Given the description of an element on the screen output the (x, y) to click on. 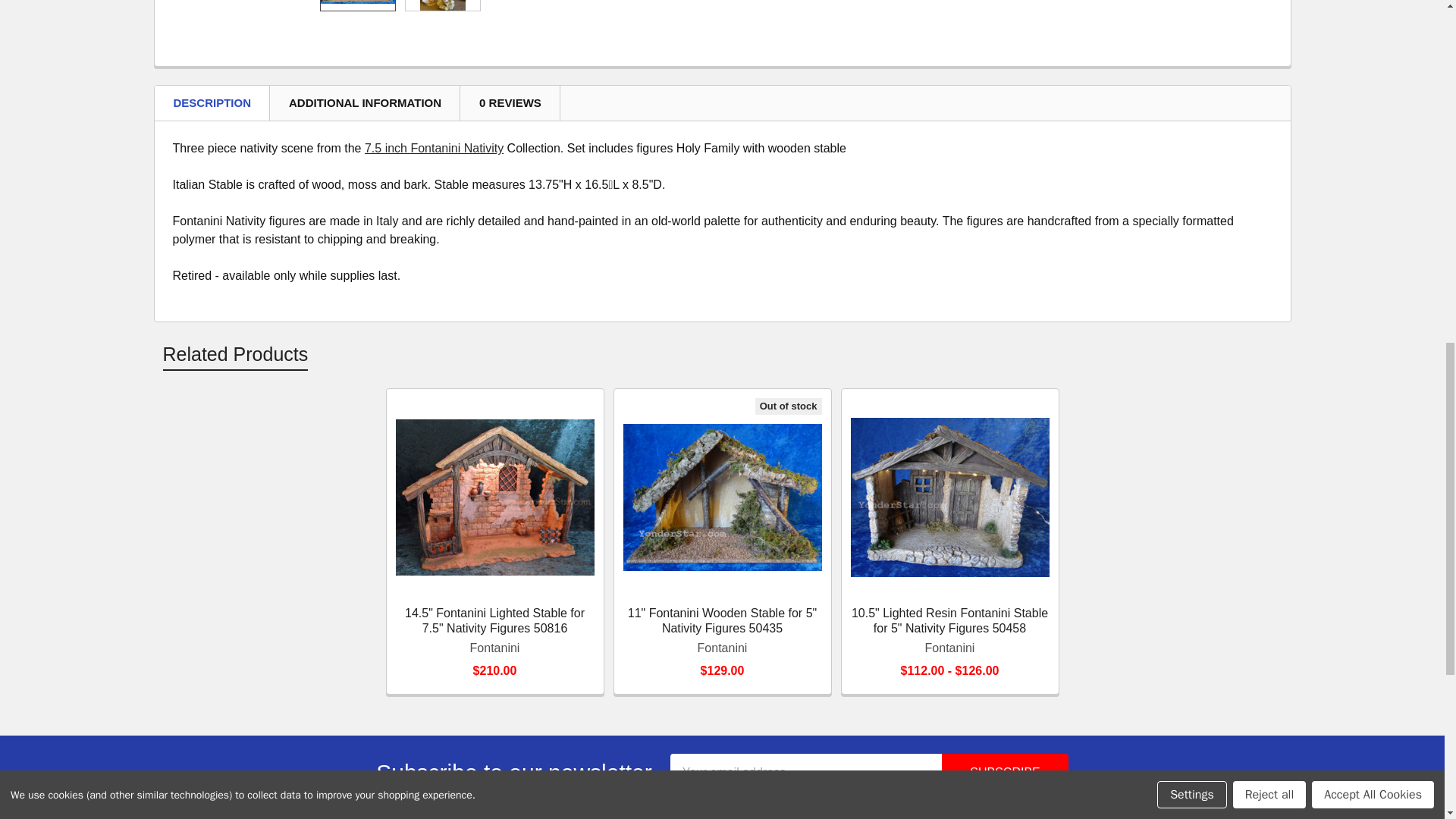
Subscribe (1004, 772)
Fontanini nativity stable lighted (949, 497)
Fontanini nativity stable lighted (495, 497)
Fontanini nativity scene (357, 2)
large Fontanini nativity set (443, 5)
Fontanini nativity stable (722, 497)
